Given the description of an element on the screen output the (x, y) to click on. 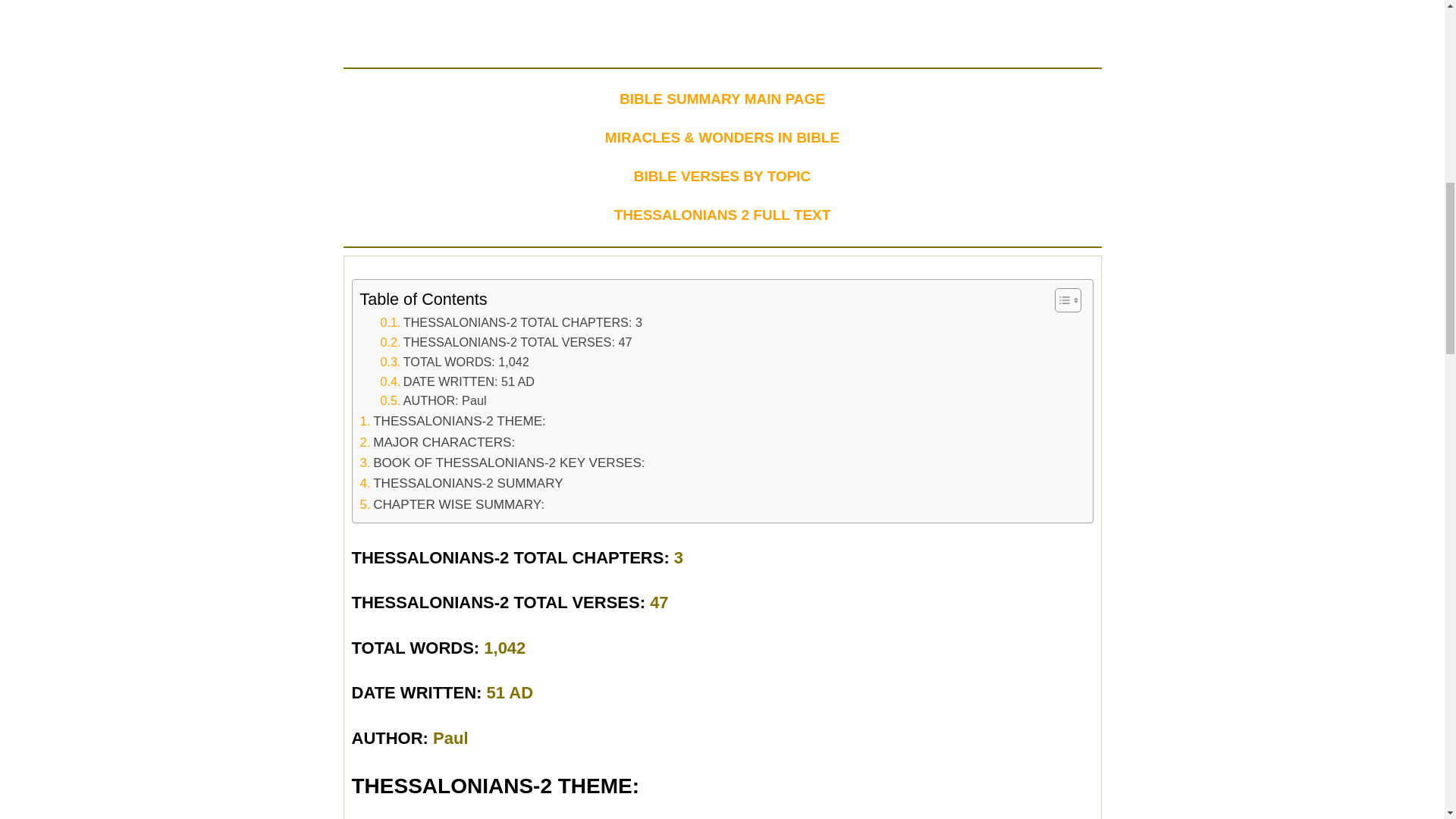
AUTHOR: Paul (433, 401)
BOOK OF THESSALONIANS-2 KEY VERSES: (502, 462)
In the name of God (722, 29)
THESSALONIANS-2 TOTAL CHAPTERS: 3 (511, 322)
MAJOR CHARACTERS:  (437, 442)
THESSALONIANS-2 SUMMARY (460, 483)
CHAPTER WISE SUMMARY: (451, 504)
